Given the description of an element on the screen output the (x, y) to click on. 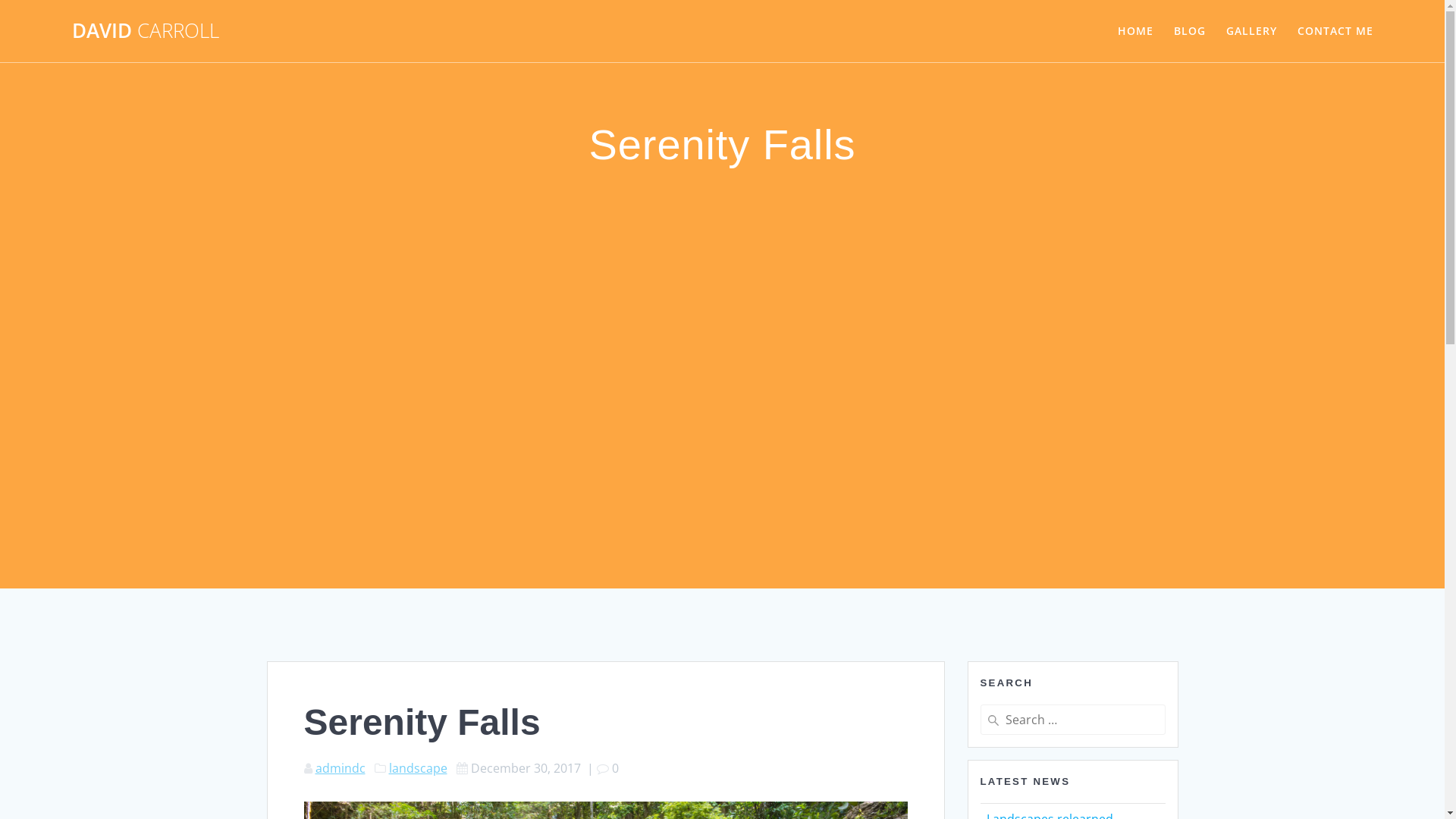
HOME Element type: text (1135, 30)
BLOG Element type: text (1189, 30)
CONTACT ME Element type: text (1335, 30)
GALLERY Element type: text (1251, 30)
DAVID CARROLL Element type: text (145, 30)
admindc Element type: text (340, 767)
landscape Element type: text (417, 767)
